Given the description of an element on the screen output the (x, y) to click on. 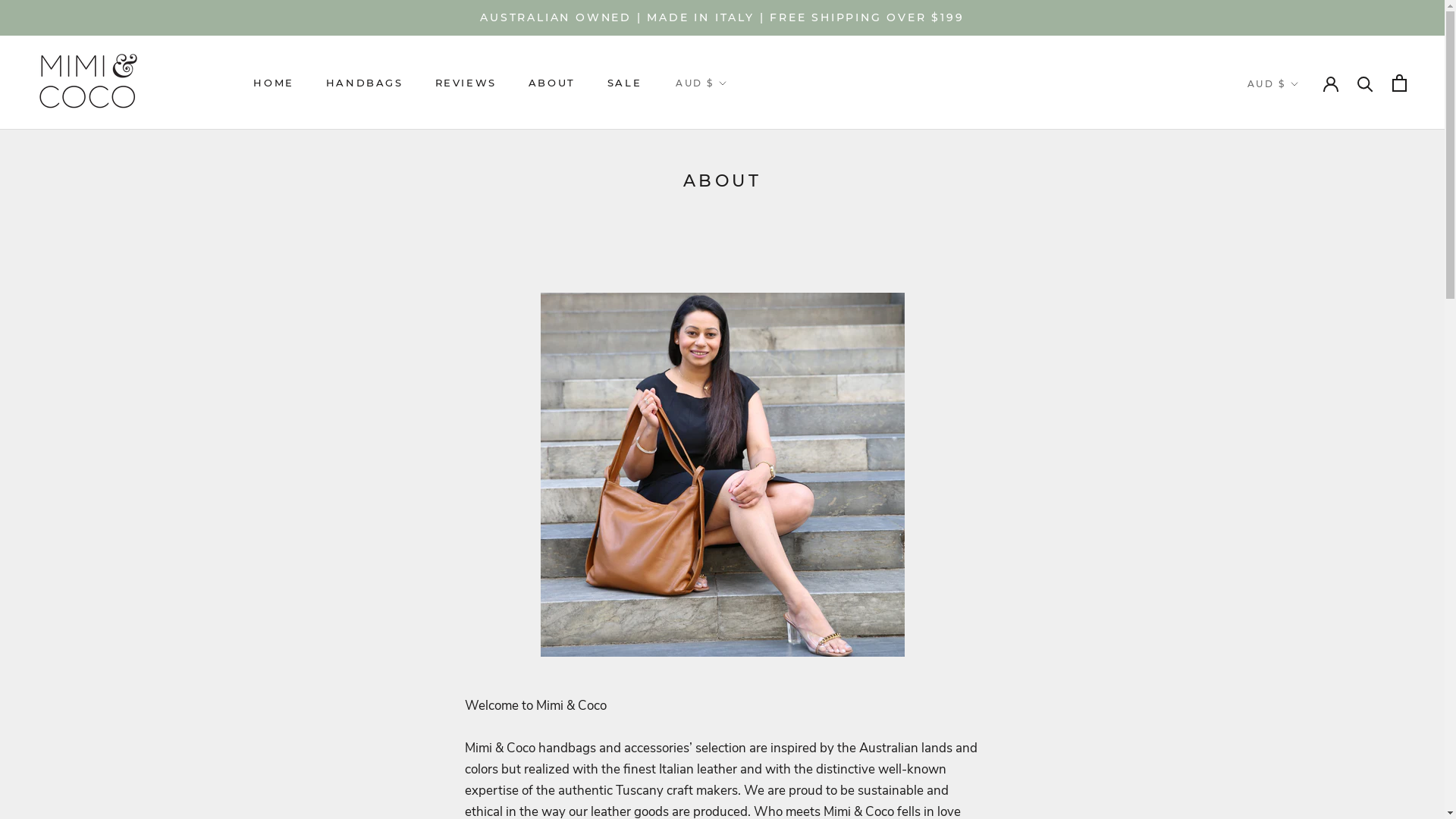
AUD Element type: text (718, 117)
SALE Element type: text (624, 82)
HANDBAGS
HANDBAGS Element type: text (364, 82)
NZD Element type: text (718, 185)
AUD Element type: text (1290, 118)
HOME
HOME Element type: text (273, 82)
NZD Element type: text (1290, 186)
ABOUT Element type: text (551, 82)
AUD $ Element type: text (701, 83)
CAD Element type: text (1290, 141)
REVIEWS
REVIEWS Element type: text (465, 82)
GBP Element type: text (718, 163)
AUD $ Element type: text (1273, 84)
USD Element type: text (718, 208)
AUSTRALIAN OWNED | MADE IN ITALY | FREE SHIPPING OVER $199 Element type: text (721, 17)
CAD Element type: text (718, 140)
GBP Element type: text (1290, 164)
USD Element type: text (1290, 208)
